Given the description of an element on the screen output the (x, y) to click on. 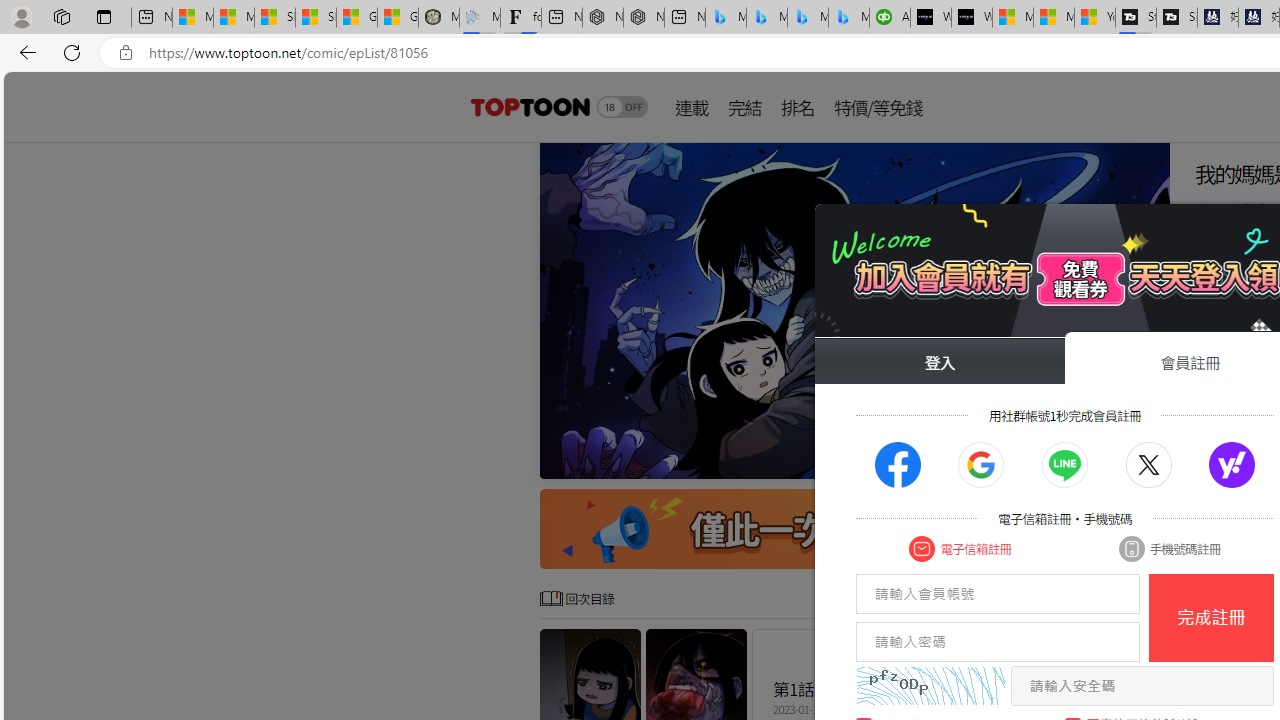
Streaming Coverage | T3 (1135, 17)
Microsoft Bing Travel - Shangri-La Hotel Bangkok (849, 17)
Go to slide 7 (1098, 461)
Class: swiper-slide (854, 310)
header (527, 106)
Manatee Mortality Statistics | FWC (438, 17)
Microsoft Start Sports (1012, 17)
Go to slide 10 (1146, 461)
